Given the description of an element on the screen output the (x, y) to click on. 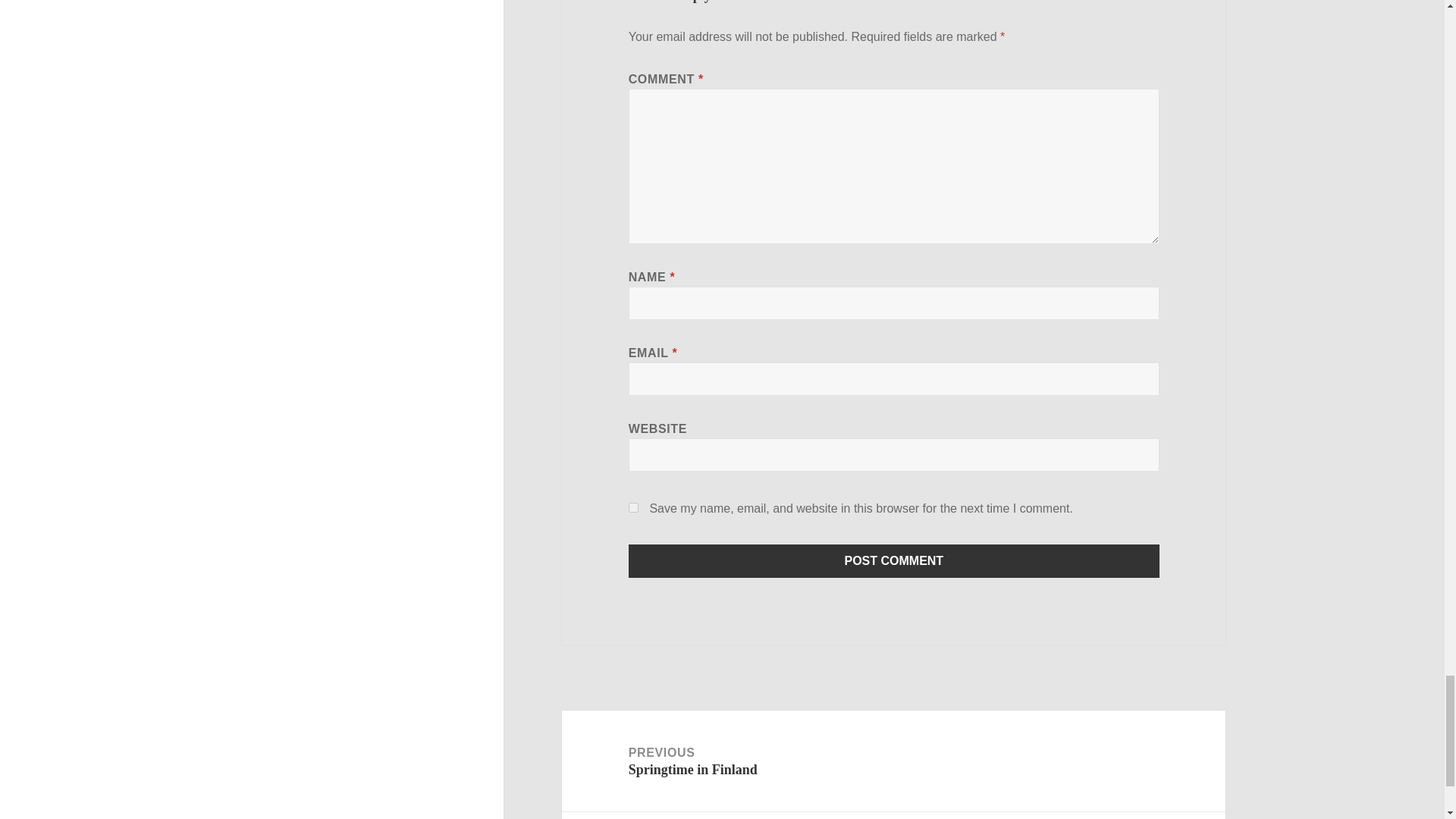
yes (633, 507)
Post Comment (893, 561)
